Given the description of an element on the screen output the (x, y) to click on. 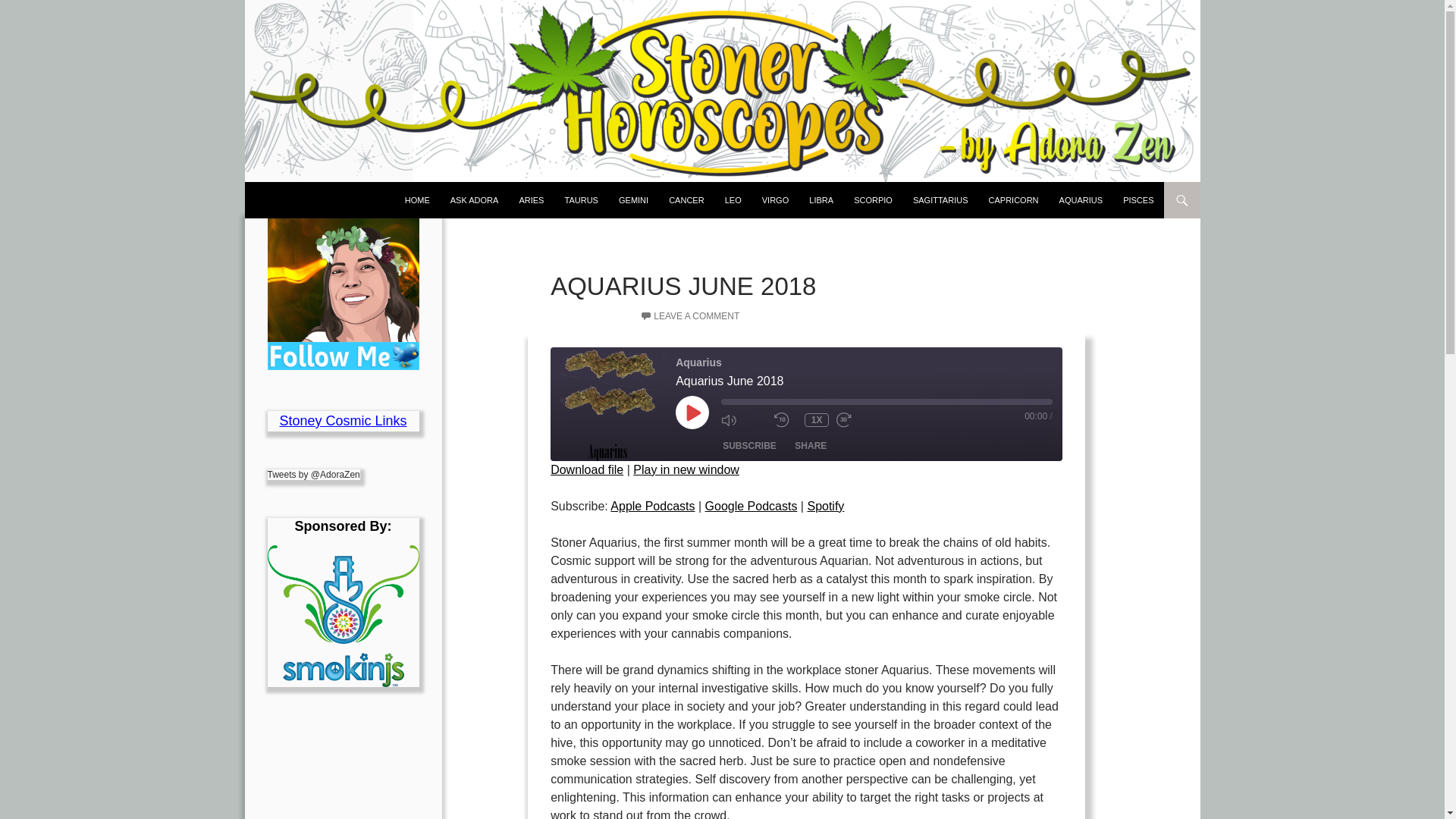
FAST FORWARD 30 SECONDS (858, 419)
LEAVE A COMMENT (689, 316)
CANCER (686, 199)
Subscribe (749, 445)
TAURUS (580, 199)
LIBRA (821, 199)
Stoner Astrological Horoscope (366, 199)
ARIES (531, 199)
Share (810, 445)
ASK ADORA (474, 199)
SHARE (810, 445)
Seek (886, 401)
1X (816, 419)
Aquarius (606, 404)
